Given the description of an element on the screen output the (x, y) to click on. 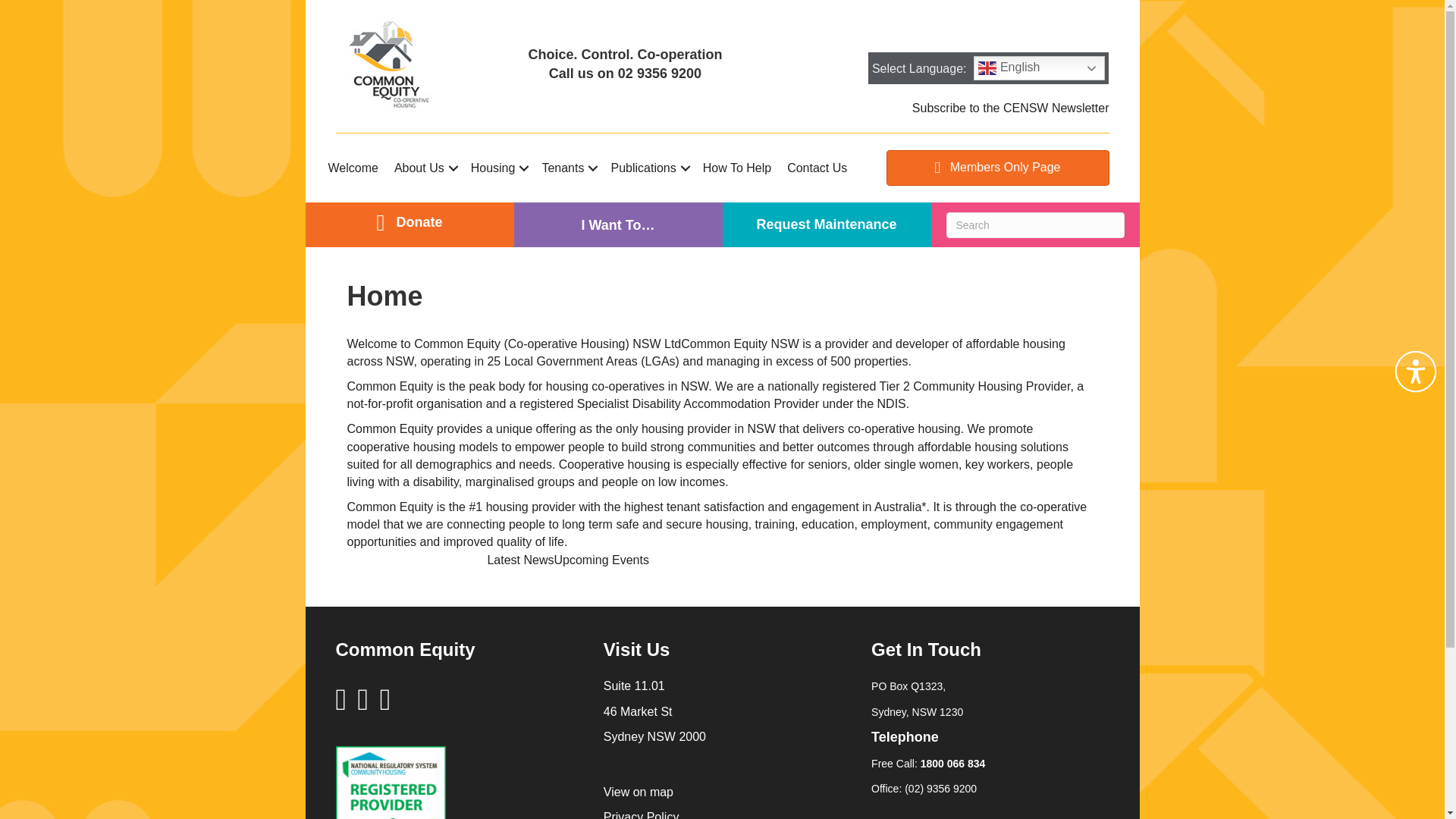
Welcome (352, 167)
Housing (498, 167)
English (1039, 68)
Register Now (642, 280)
Call us on 02 9356 9200 (624, 73)
Common Equity NSW - Co-opertaive Housing logo (387, 64)
About Us (425, 167)
Call us on 02 9356 9200 (624, 73)
